Given the description of an element on the screen output the (x, y) to click on. 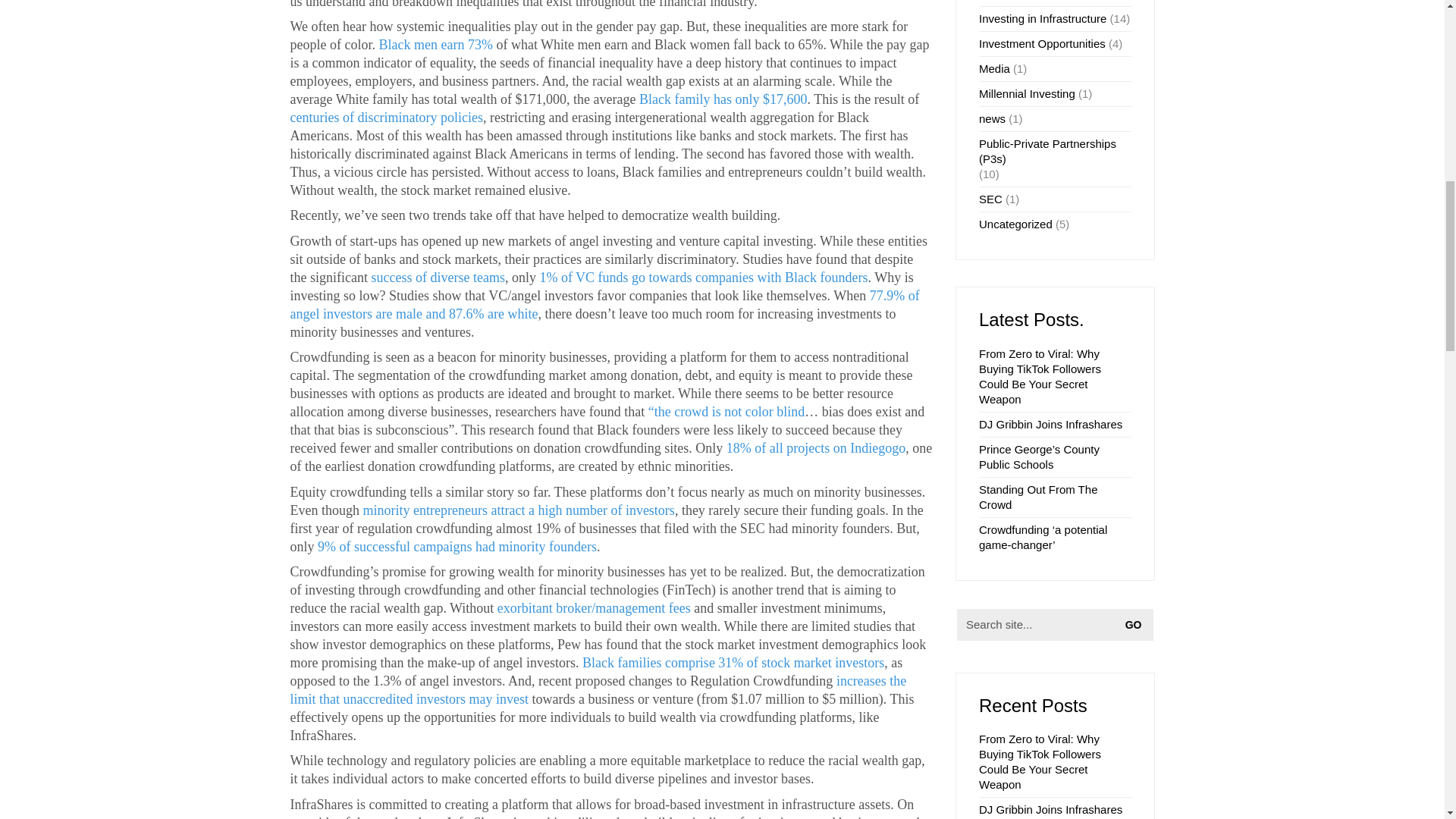
Search for: (1054, 623)
Go (1137, 624)
Investing in Infrastructure (1042, 18)
Go (1137, 624)
